Given the description of an element on the screen output the (x, y) to click on. 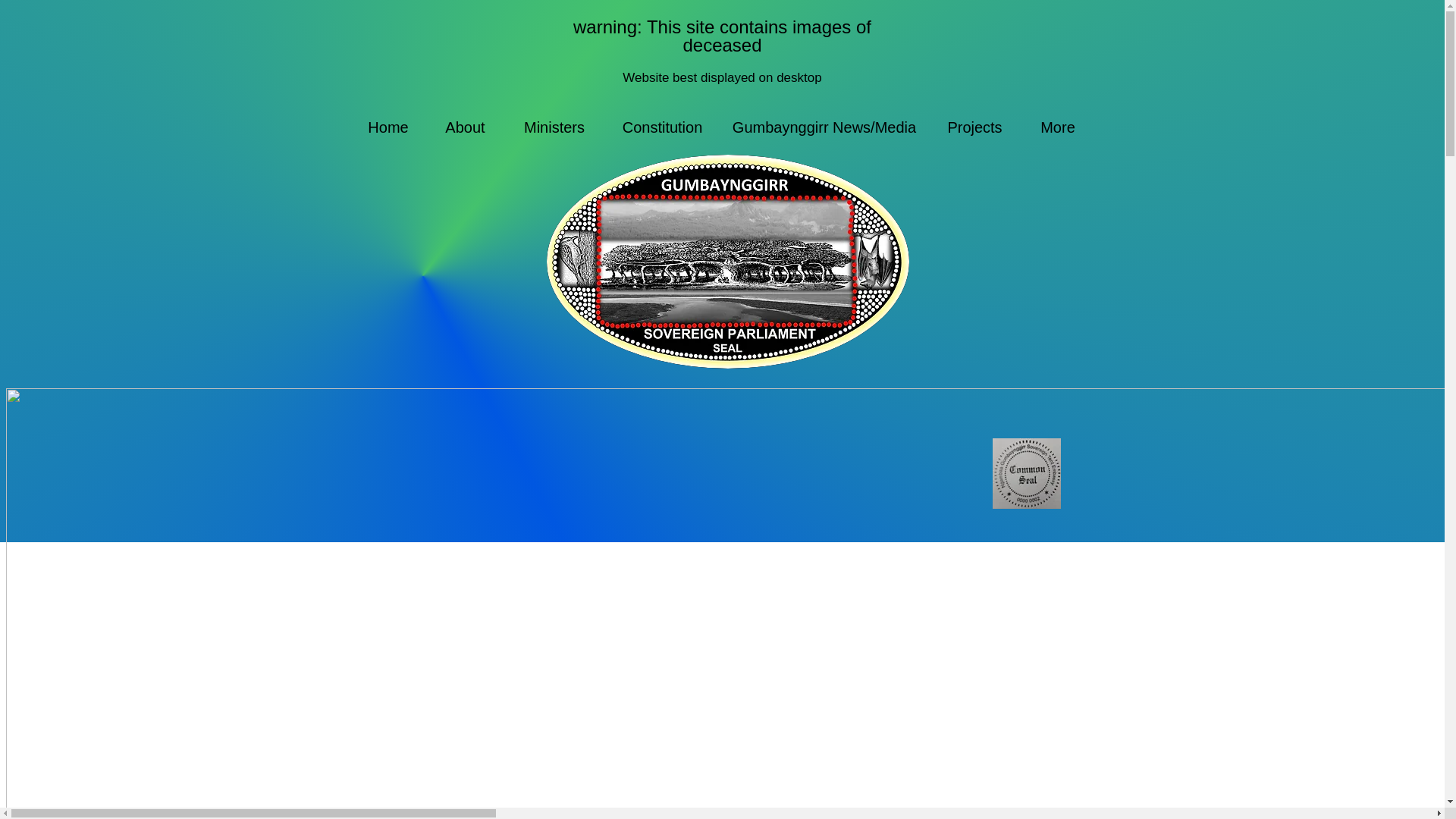
Projects (974, 127)
About (464, 127)
Ngaamba common seal2.jpg (1025, 473)
Ministers (553, 127)
Constitution (662, 127)
Home (388, 127)
